Given the description of an element on the screen output the (x, y) to click on. 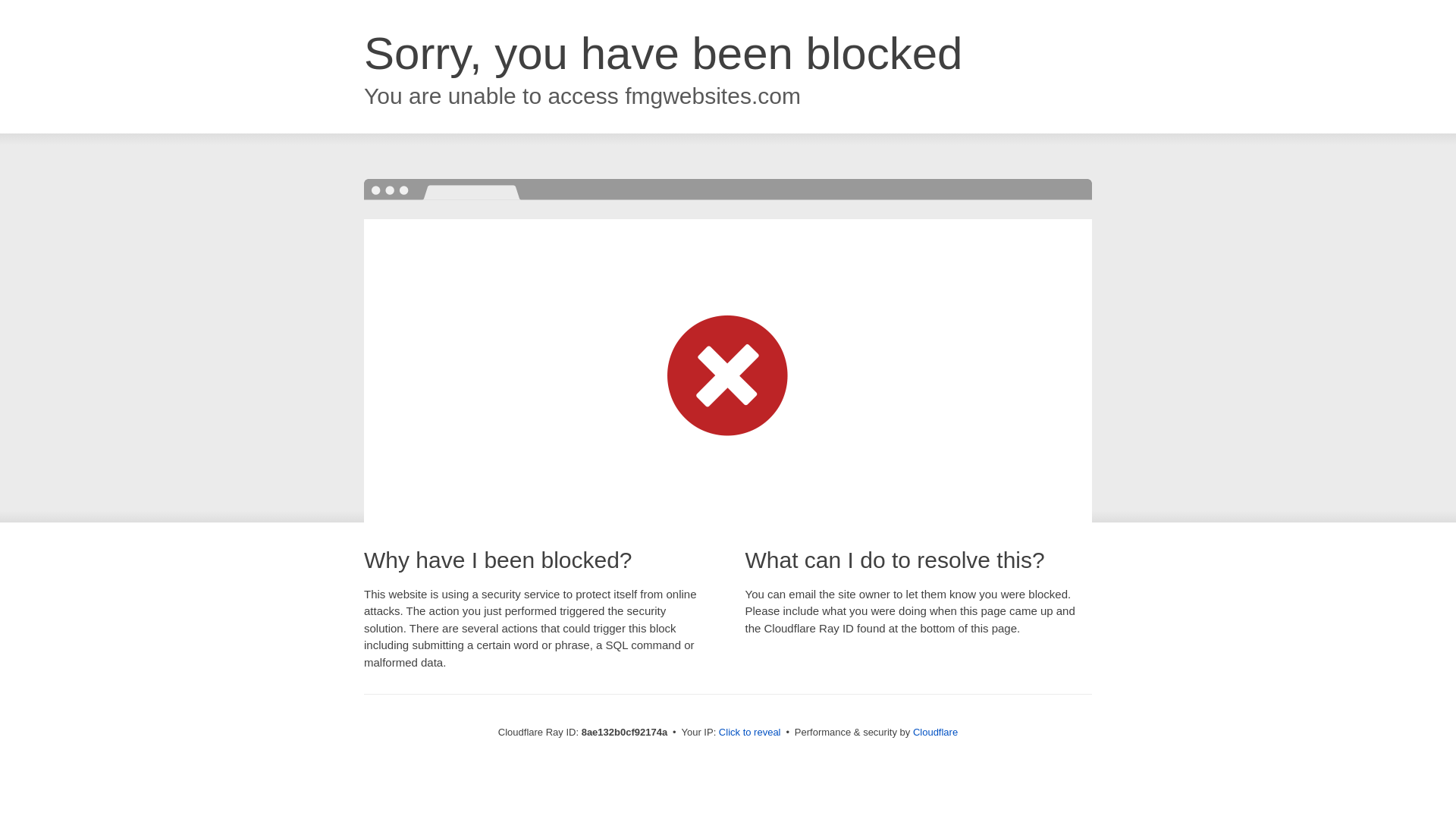
Cloudflare (935, 731)
Click to reveal (749, 732)
